Given the description of an element on the screen output the (x, y) to click on. 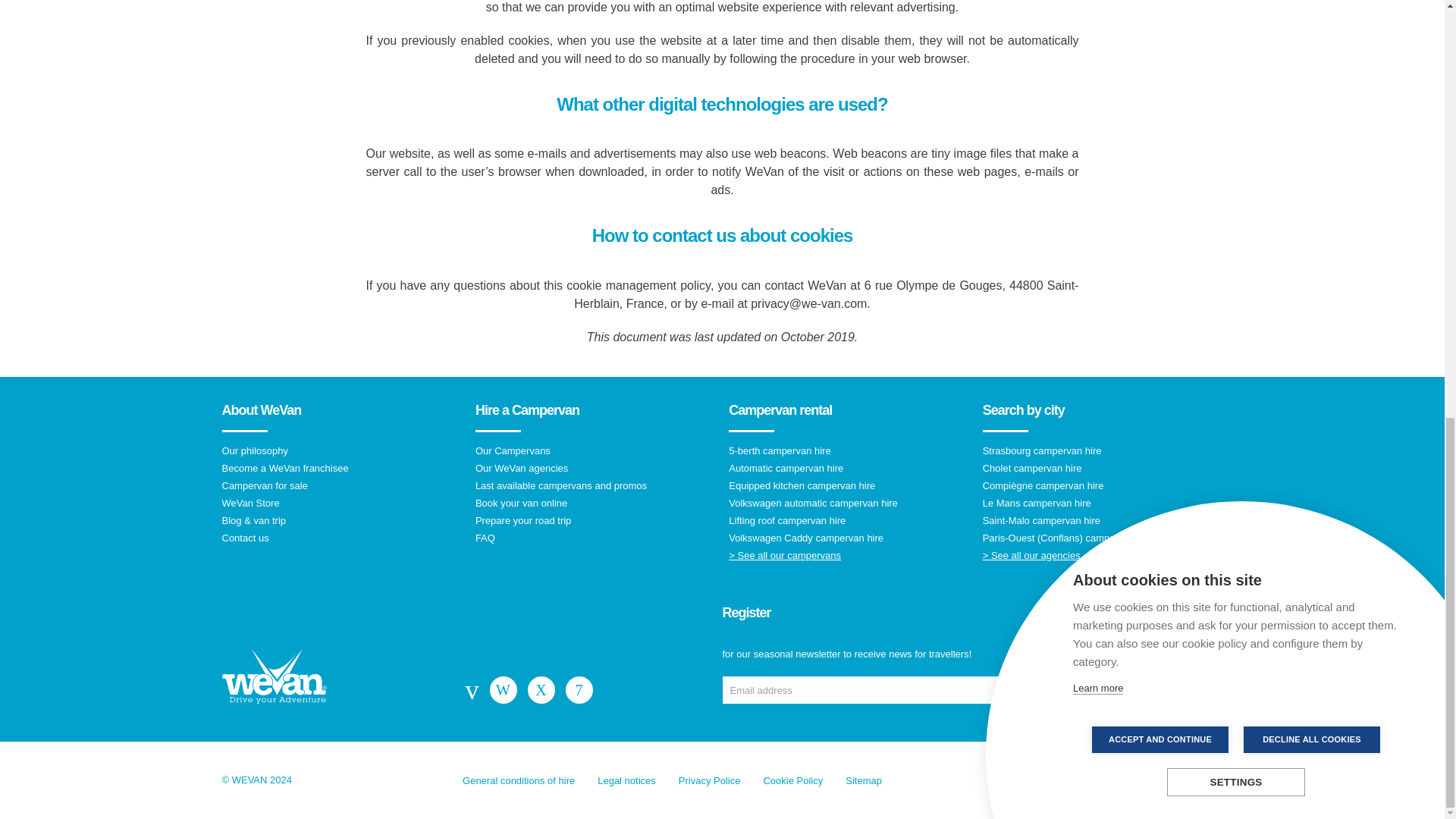
Campervan for sale (341, 485)
Equipped kitchen campervan hire (849, 485)
Cholet campervan hire (1102, 468)
Become a WeVan franchisee (341, 468)
WeVan Store (341, 502)
Lifting roof campervan hire (849, 520)
Contact us (341, 537)
Automatic campervan hire (849, 468)
Our philosophy (341, 450)
5-berth campervan hire (849, 450)
Prepare your road trip (596, 520)
Our Campervans (596, 450)
Last available campervans and promos (596, 485)
Our WeVan agencies (596, 468)
Volkswagen Caddy campervan hire (849, 537)
